Given the description of an element on the screen output the (x, y) to click on. 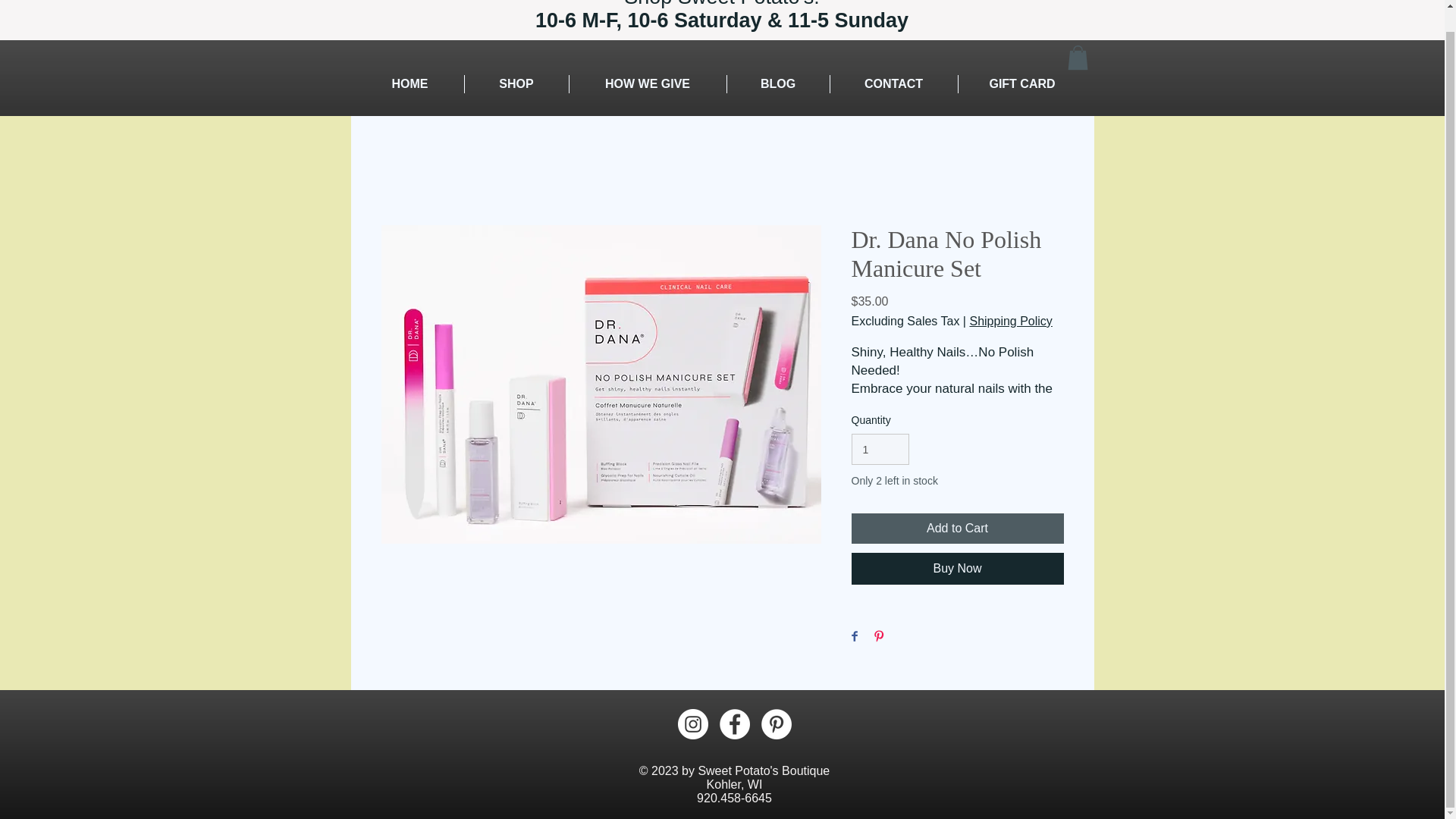
1 (879, 449)
Shipping Policy (1010, 321)
Add to Cart (956, 528)
HOME (410, 84)
GIFT CARD (1022, 84)
HOW WE GIVE (647, 84)
BLOG (777, 84)
Buy Now (956, 568)
SHOP (515, 84)
CONTACT (892, 84)
